Given the description of an element on the screen output the (x, y) to click on. 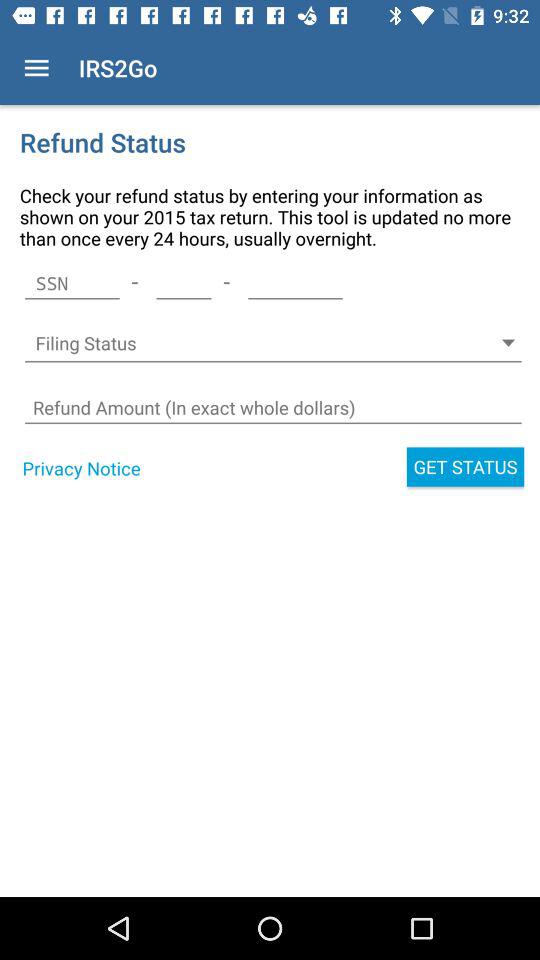
launch the icon above filing status icon (183, 283)
